Given the description of an element on the screen output the (x, y) to click on. 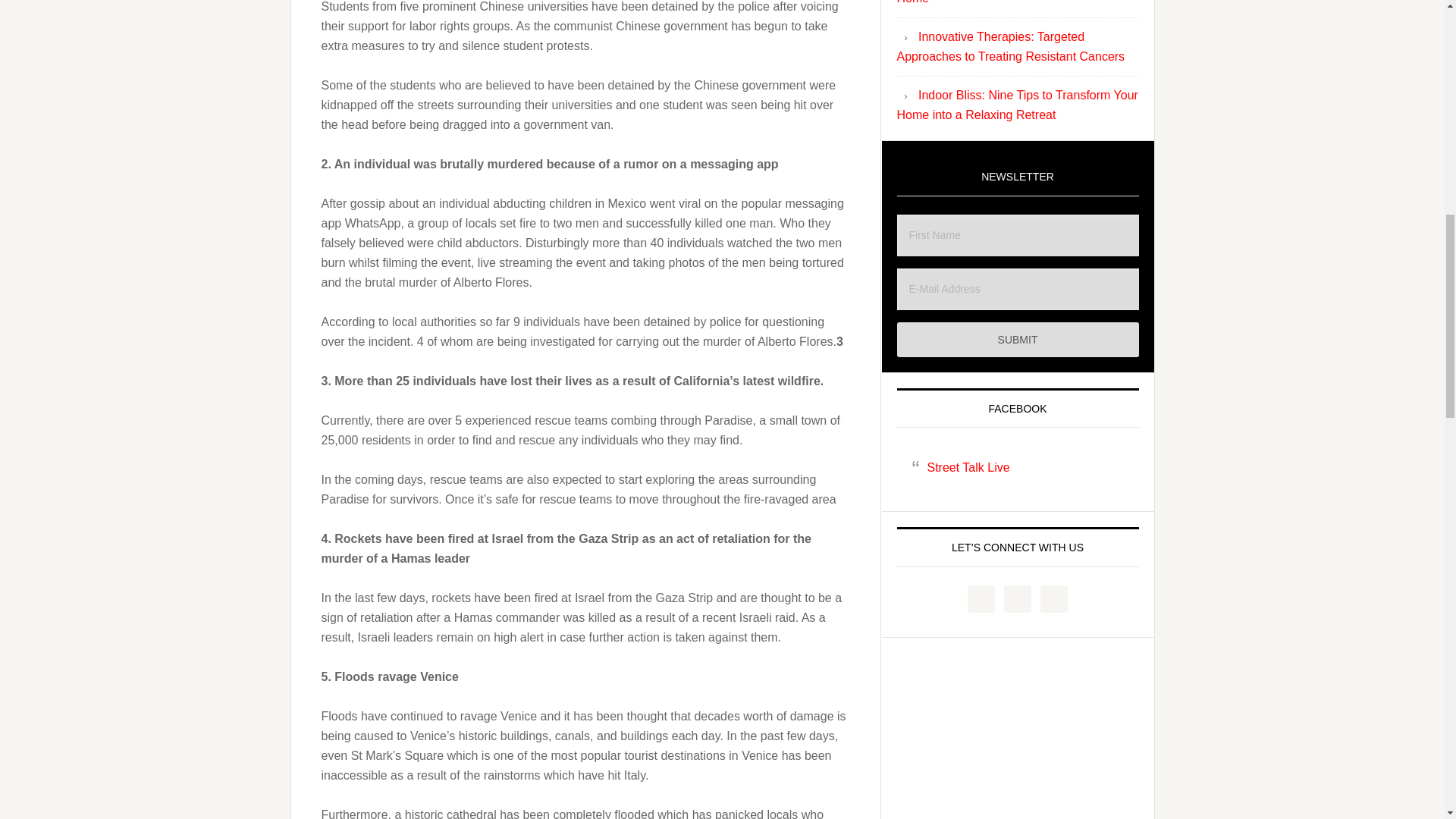
Submit (1017, 339)
